Given the description of an element on the screen output the (x, y) to click on. 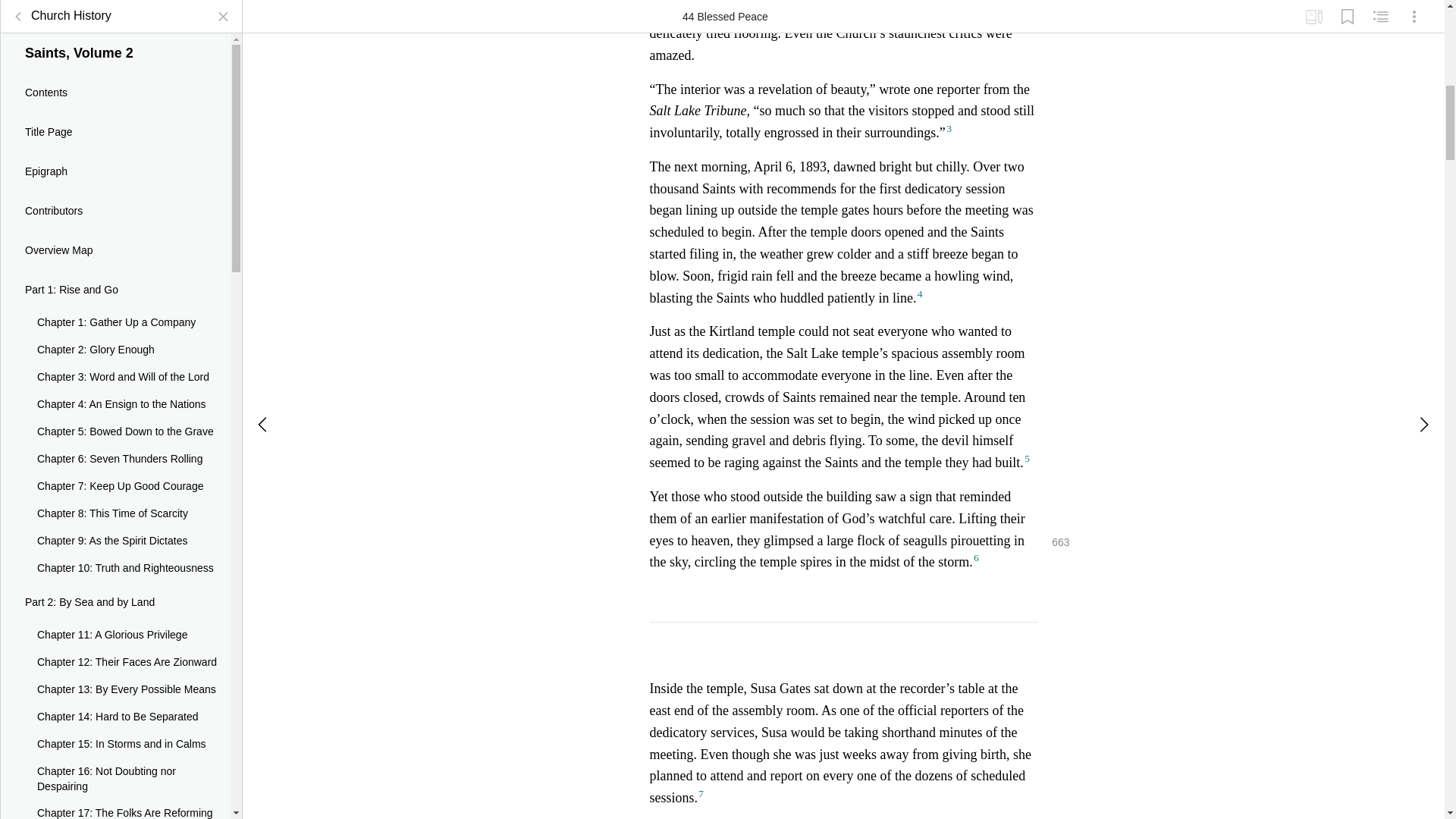
Chapter 24: An Immense Labor (115, 280)
Chapter 27: Fire in the Dry Grass (115, 362)
Chapter 18: Too Late, Too Late (115, 77)
Chapter 21: The Same Great Work (115, 159)
Chapter 20: Handwriting on the Wall (115, 132)
Chapter 23: One Harmonious Whole (115, 214)
Chapter 16: Not Doubting nor Despairing (115, 18)
Chapter 19: The Chambers of the Lord (115, 104)
Chapter 28: Until the Coming of the Son of Man (115, 397)
Part 3: The Trying Hour (115, 247)
Chapter 17: The Folks Are Reforming (115, 50)
Chapter 22: Like Coals of Living Fire (115, 186)
Chapter 26: For the Best Good of Zion (115, 335)
Chapter 29: To Die in the Harness (115, 431)
Chapter 25: The Dignity of Our Calling (115, 308)
